Given the description of an element on the screen output the (x, y) to click on. 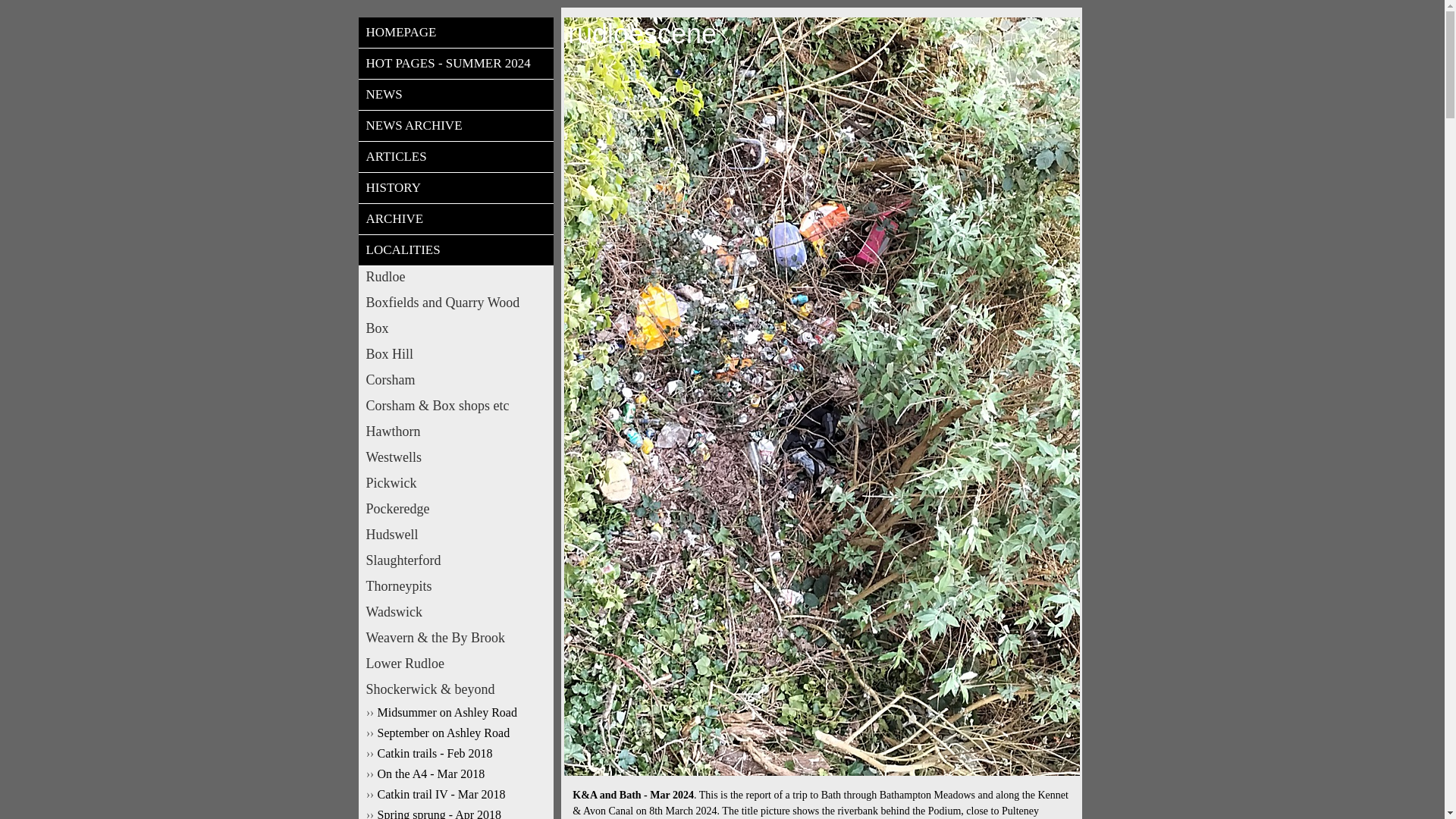
NEWS (455, 94)
Corsham (455, 380)
Midsummer on Ashley Road (455, 712)
Box (455, 328)
Hudswell (455, 535)
Spring sprung - Apr 2018 (455, 812)
LOCALITIES (455, 250)
Slaughterford (455, 560)
Pockeredge (455, 508)
Westwells (455, 457)
Hawthorn (455, 431)
HOMEPAGE (455, 32)
September on Ashley Road (455, 733)
Wadswick (455, 612)
Boxfields and Quarry Wood (455, 302)
